Given the description of an element on the screen output the (x, y) to click on. 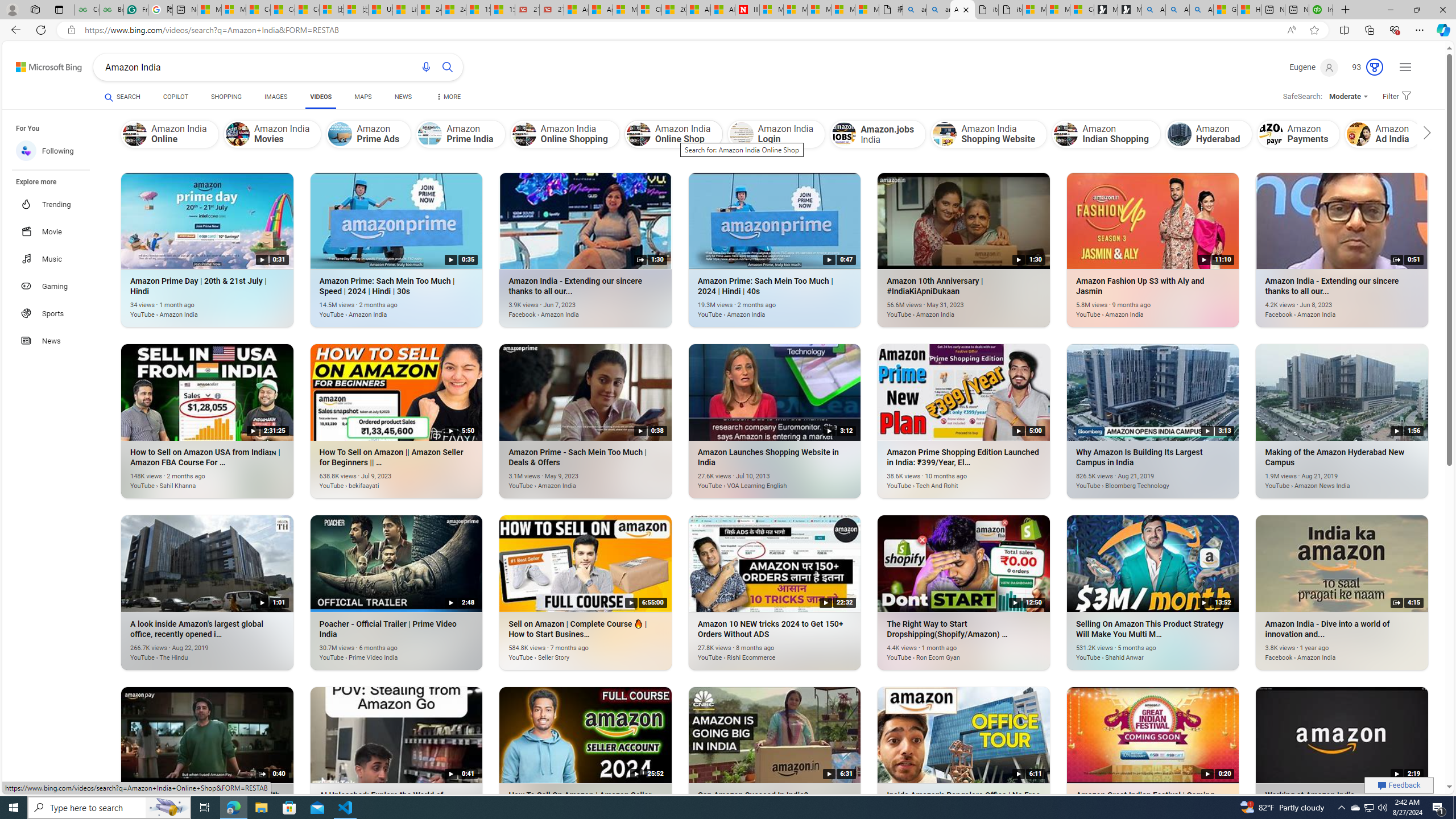
Amazon Prime India (460, 134)
Amazon 10th Anniversary | #IndiaKiApniDukaan (946, 308)
Alabama high school quarterback dies - Search Videos (1201, 9)
Filter (1394, 96)
Cloud Computing Services | Microsoft Azure (648, 9)
Amazon India Shopping Website (944, 133)
Amazon Payments (1297, 134)
